Given the description of an element on the screen output the (x, y) to click on. 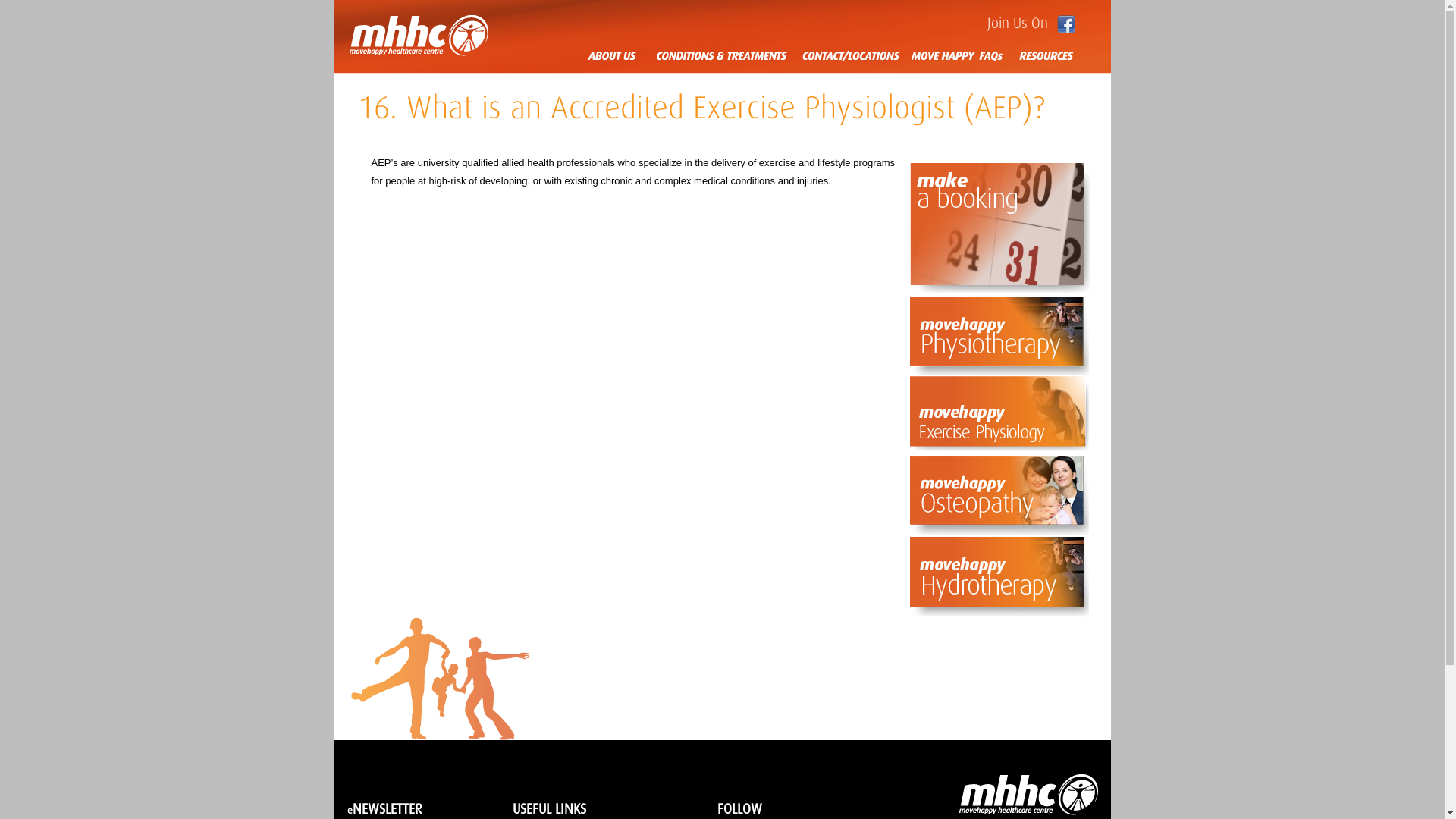
MOVEHAPPY FAQS Element type: text (957, 54)
TREATMENTS Element type: text (721, 54)
Movehappy Healthcare Centre Element type: text (417, 35)
make a booking Element type: text (999, 229)
RESOURCES Element type: text (1043, 54)
LOCATION Element type: text (843, 54)
Meet Our Physiotherapy Element type: text (999, 336)
ABOUT US & OUR HISTORY Element type: text (620, 54)
Movehappy Hydrotherapy Element type: text (999, 577)
Exercise Physiology Element type: text (999, 415)
About Movehappy Osteopathy Element type: text (999, 495)
